Given the description of an element on the screen output the (x, y) to click on. 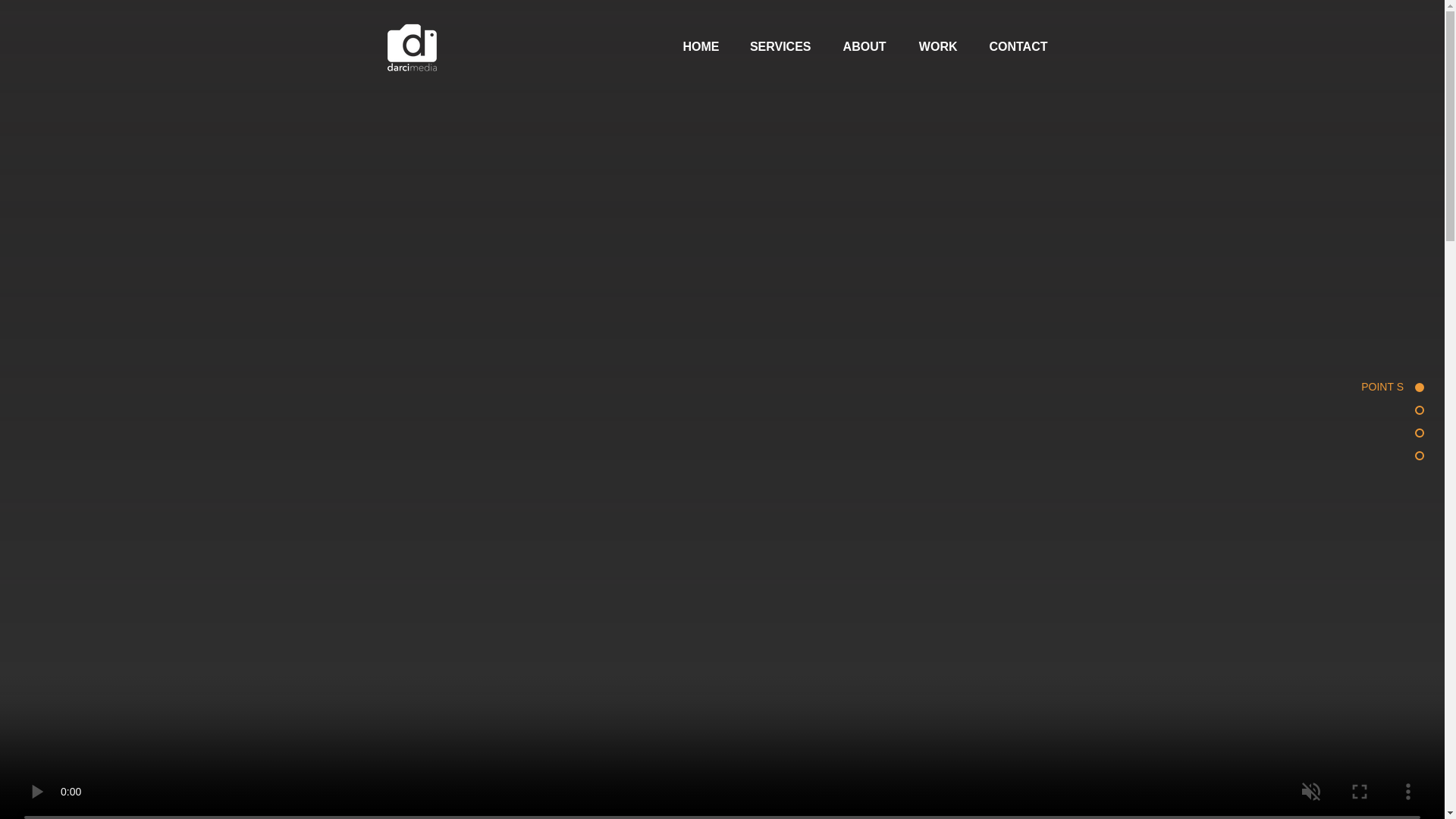
ABOUT (855, 46)
WORK (930, 46)
CONTACT (1011, 46)
HOME (692, 46)
SERVICES (773, 46)
POINT S (1373, 387)
